Given the description of an element on the screen output the (x, y) to click on. 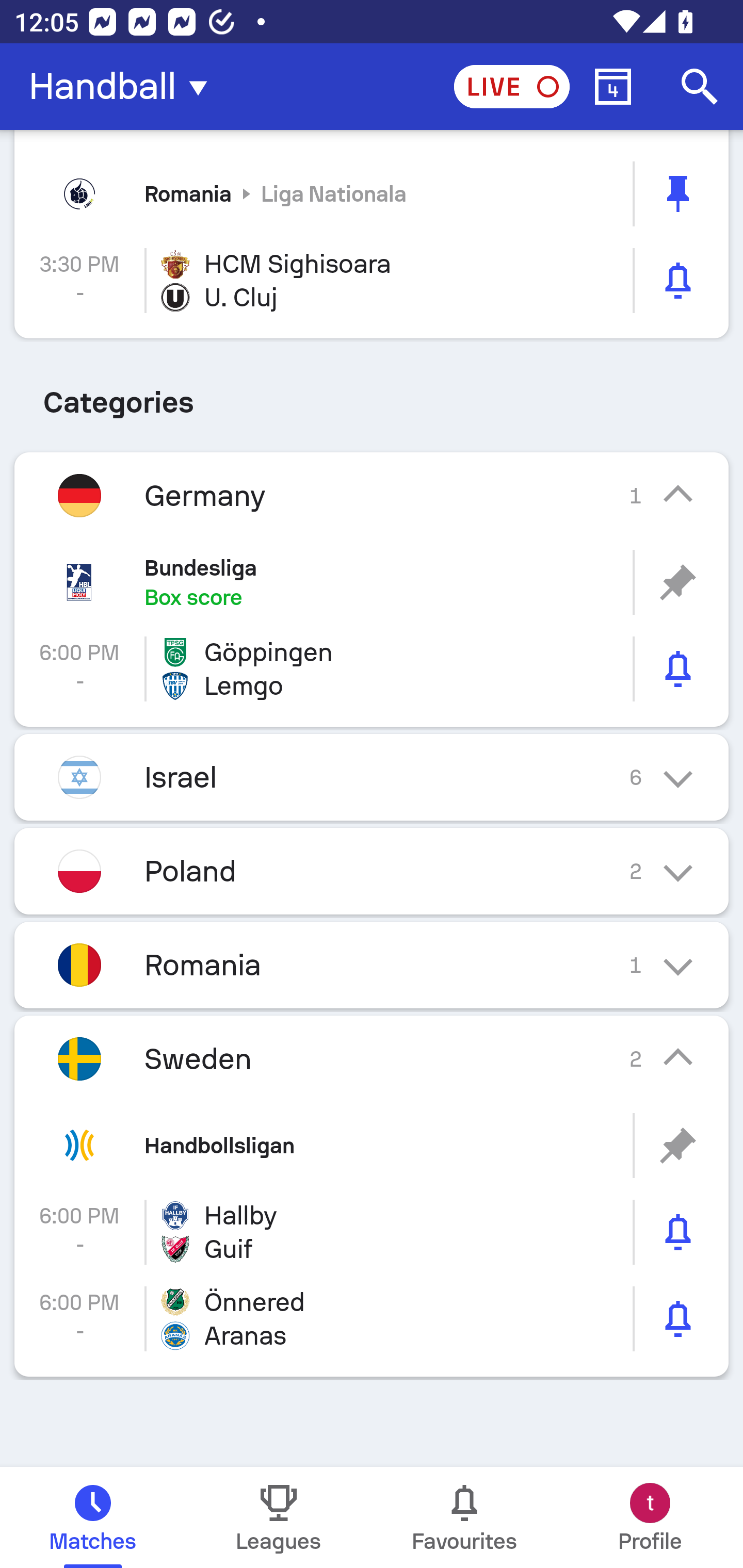
Handball (124, 86)
Calendar (612, 86)
Search (699, 86)
Romania Liga Nationala (371, 193)
3:30 PM - HCM Sighisoara U. Cluj (371, 280)
Categories (371, 394)
Germany 1 (371, 495)
Bundesliga Box score (371, 582)
6:00 PM - Göppingen Lemgo (371, 668)
Israel 6 (371, 776)
Poland 2 (371, 870)
Romania 1 (371, 964)
Sweden 2 (371, 1059)
Handbollsligan (371, 1145)
6:00 PM - Hallby Guif (371, 1231)
6:00 PM - Önnered Aranas (371, 1318)
Leagues (278, 1517)
Favourites (464, 1517)
Profile (650, 1517)
